Given the description of an element on the screen output the (x, y) to click on. 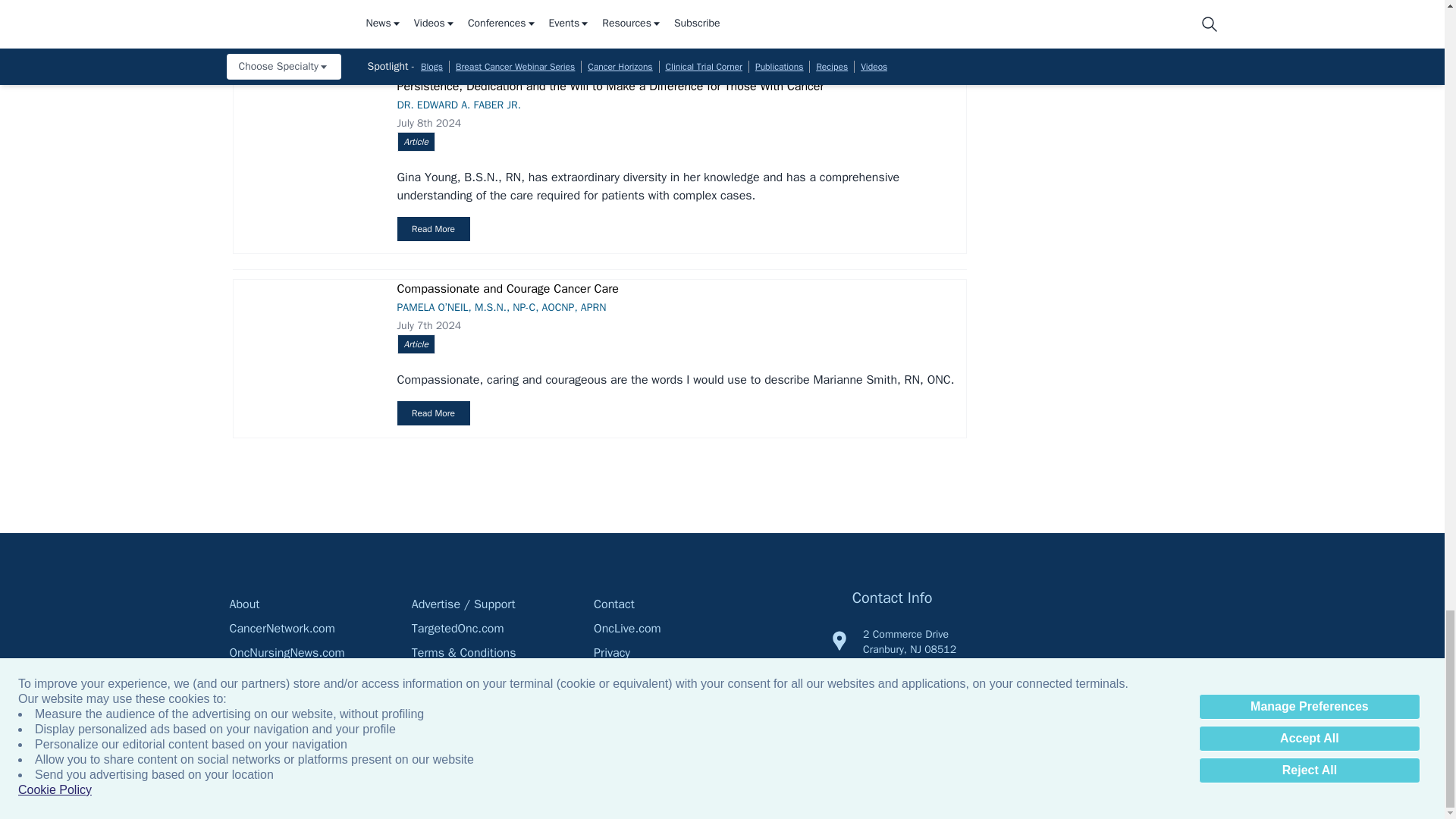
Image of two women sitting on a bench outside. (305, 13)
